Given the description of an element on the screen output the (x, y) to click on. 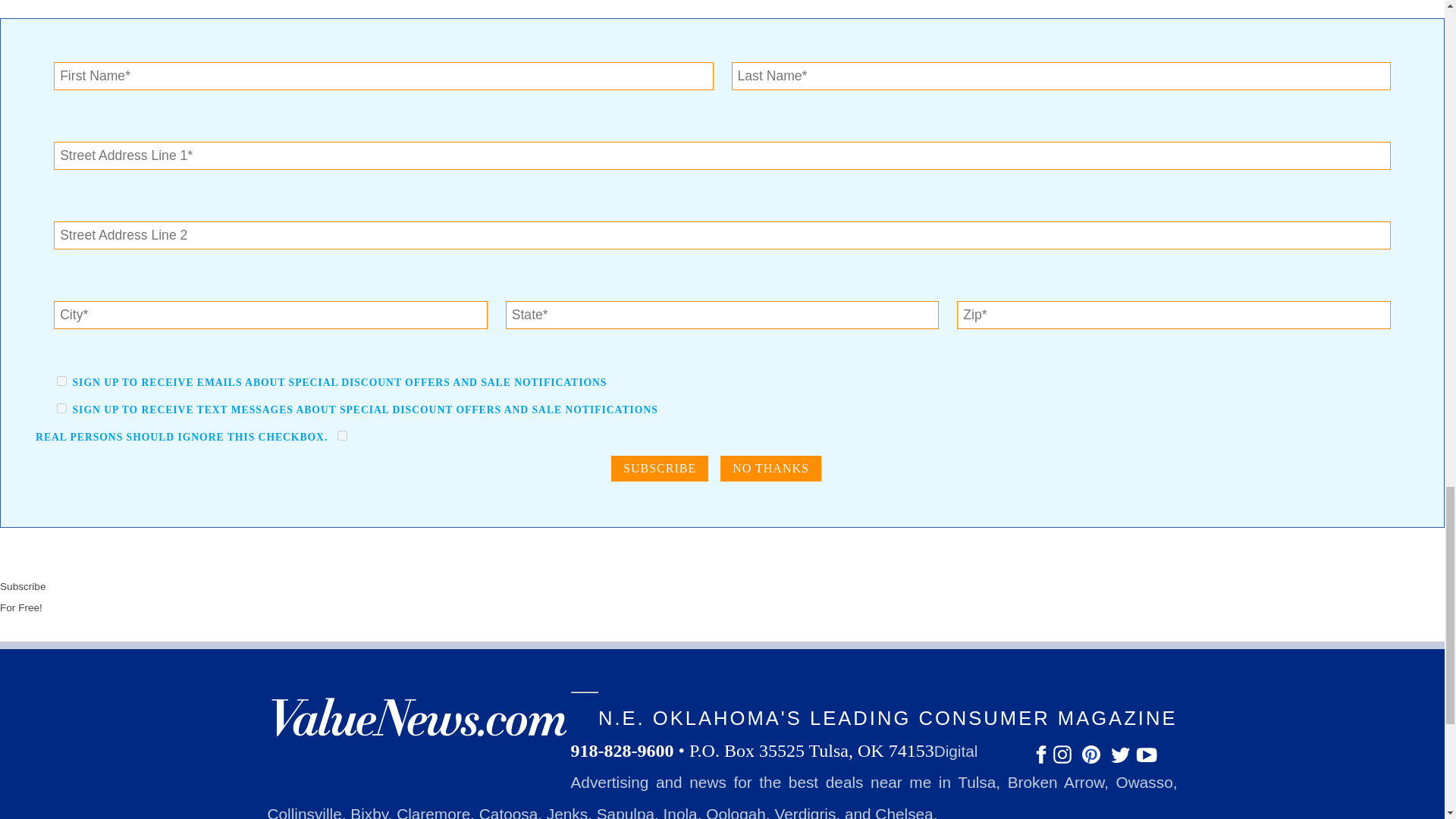
Subscribe (659, 468)
1 (342, 435)
No Thanks (770, 468)
1 (61, 380)
1 (61, 408)
